Given the description of an element on the screen output the (x, y) to click on. 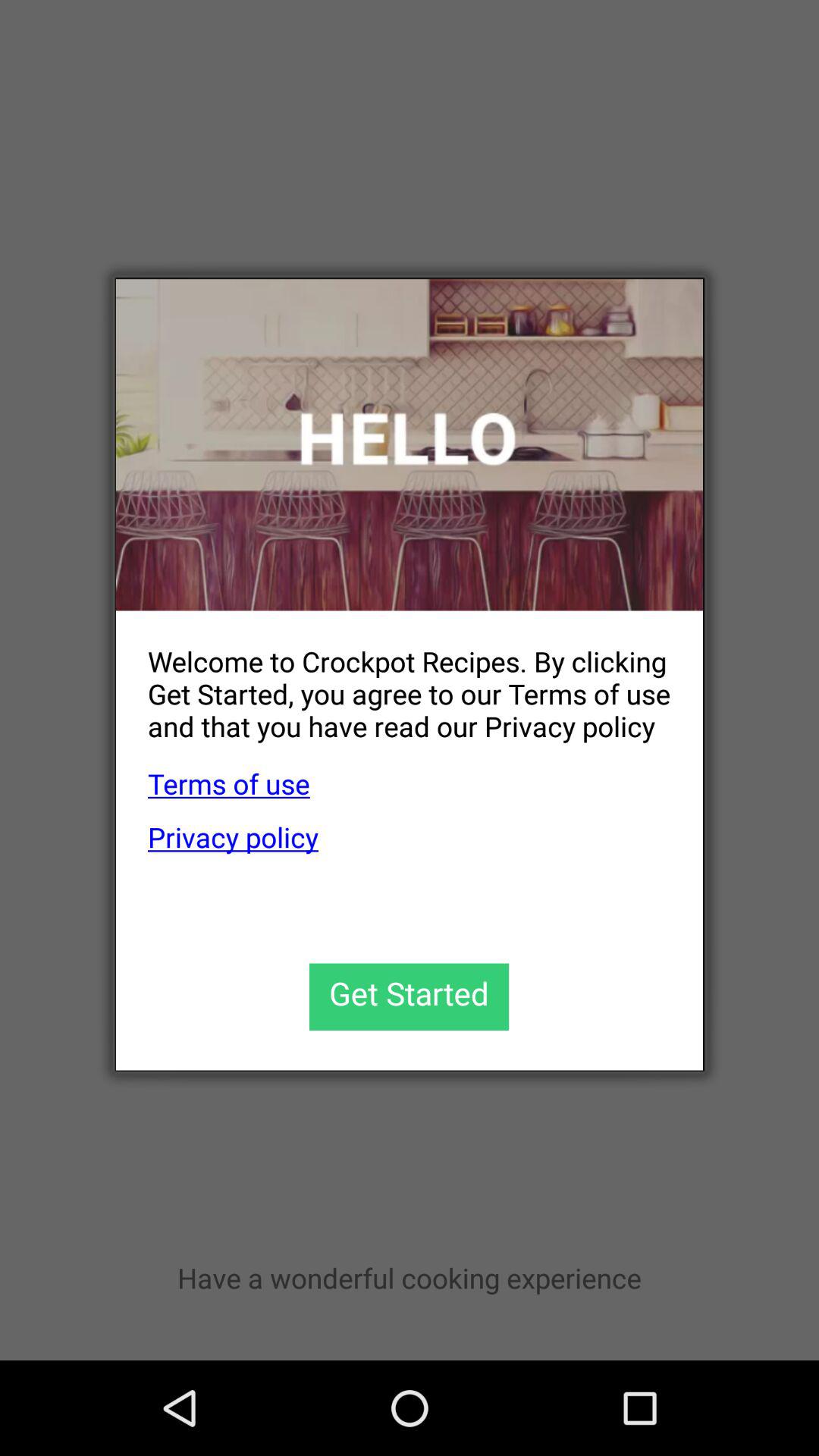
enter app (409, 996)
